Given the description of an element on the screen output the (x, y) to click on. 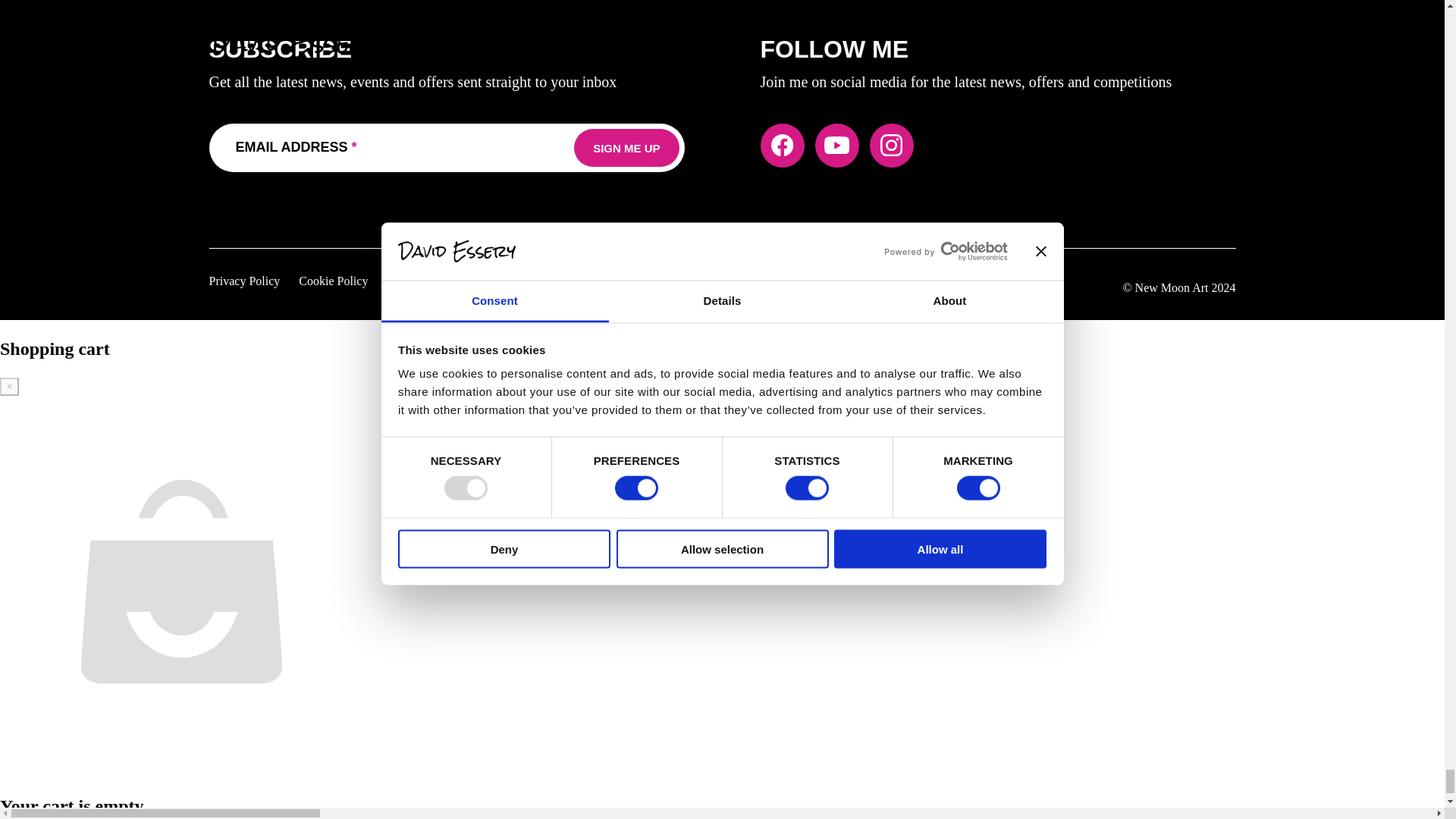
Close Cart (9, 386)
